Given the description of an element on the screen output the (x, y) to click on. 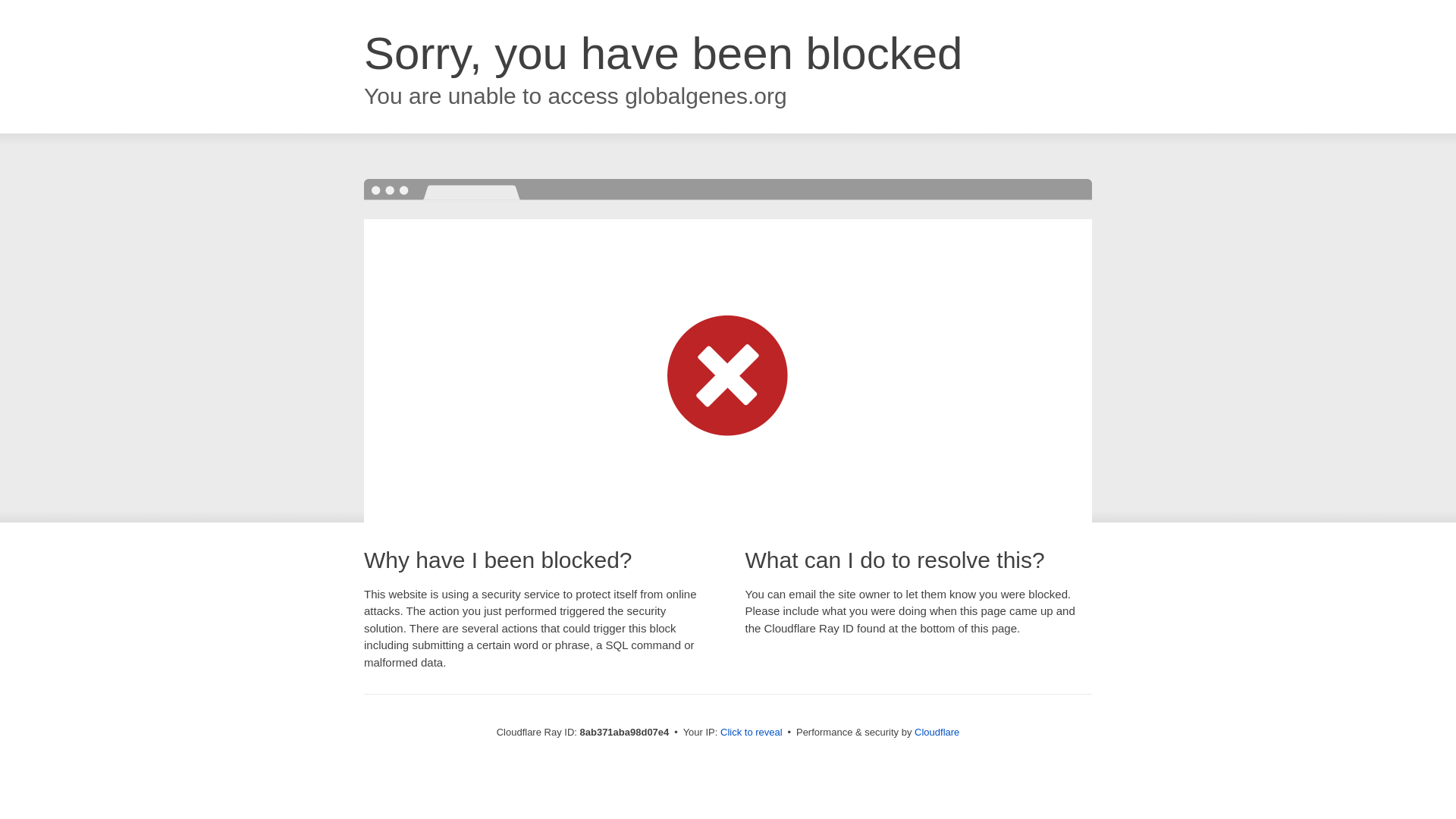
Click to reveal (751, 732)
Cloudflare (936, 731)
